Given the description of an element on the screen output the (x, y) to click on. 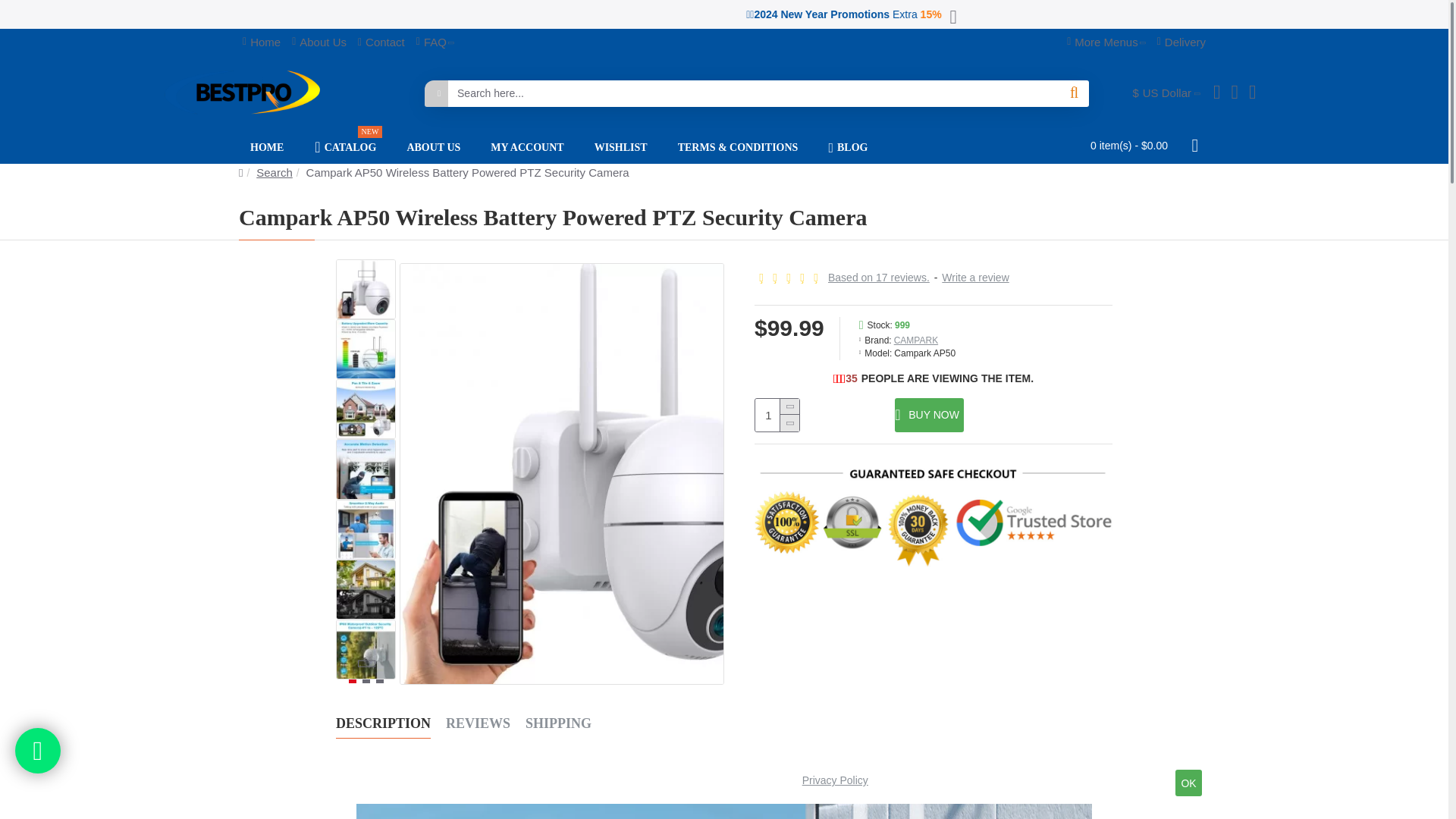
Contact (381, 41)
More Menus (1106, 42)
HOME (266, 147)
Campark AP50  Wireless Battery Powered PTZ Security Camera (366, 649)
Campark AP50  Wireless Battery Powered PTZ Security Camera (366, 408)
Home (260, 41)
Campark AP50  Wireless Battery Powered PTZ Security Camera (366, 349)
Campark AP50  Wireless Battery Powered PTZ Security Camera (366, 589)
Campark AP50  Wireless Battery Powered PTZ Security Camera (366, 529)
FAQ (435, 41)
Campark AP50  Wireless Battery Powered PTZ Security Camera (366, 289)
1 (777, 414)
About Us (319, 41)
Delivery (1181, 42)
